Given the description of an element on the screen output the (x, y) to click on. 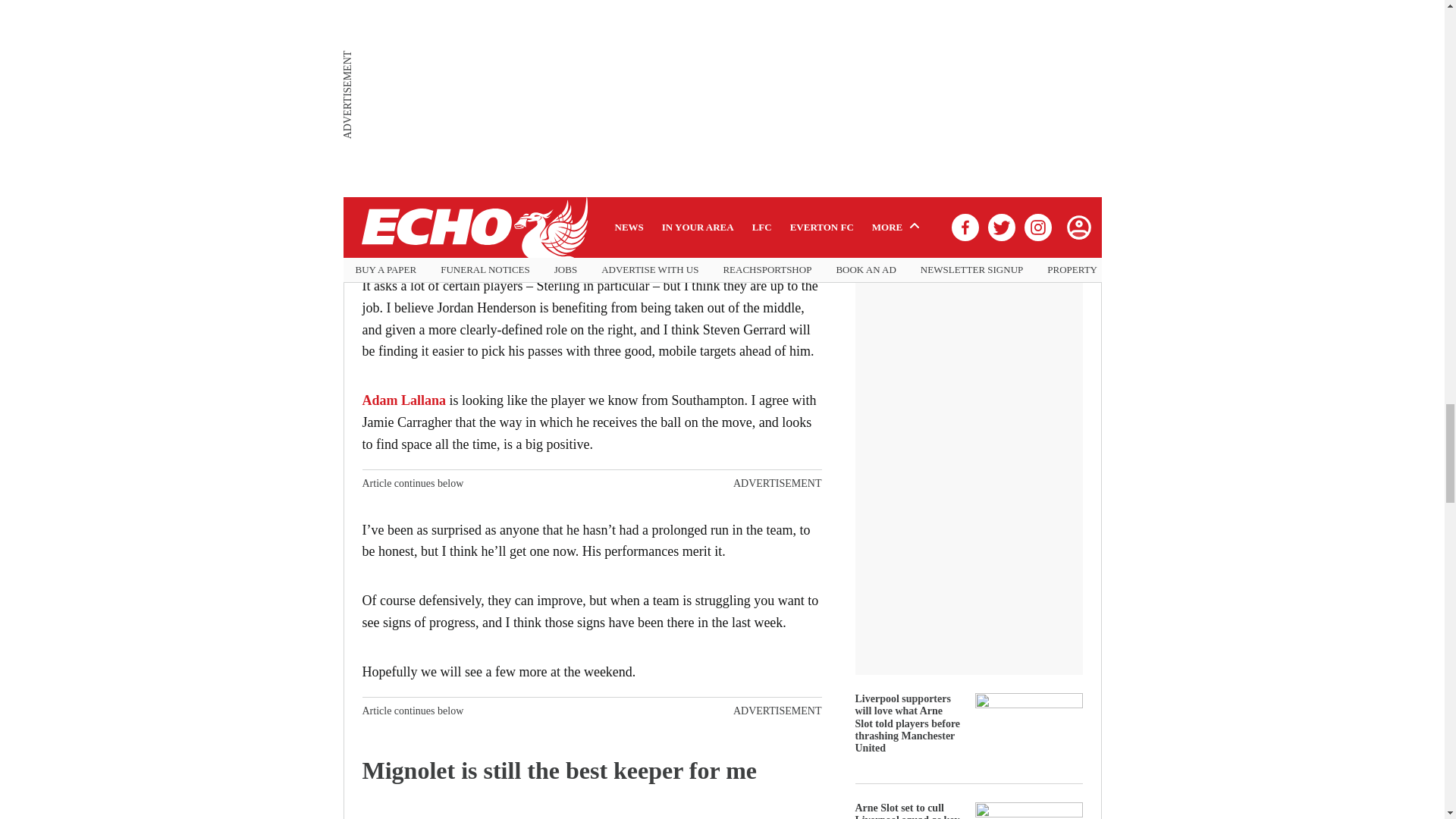
Brendan Rodgers (413, 4)
Adam Lallana (404, 400)
